Given the description of an element on the screen output the (x, y) to click on. 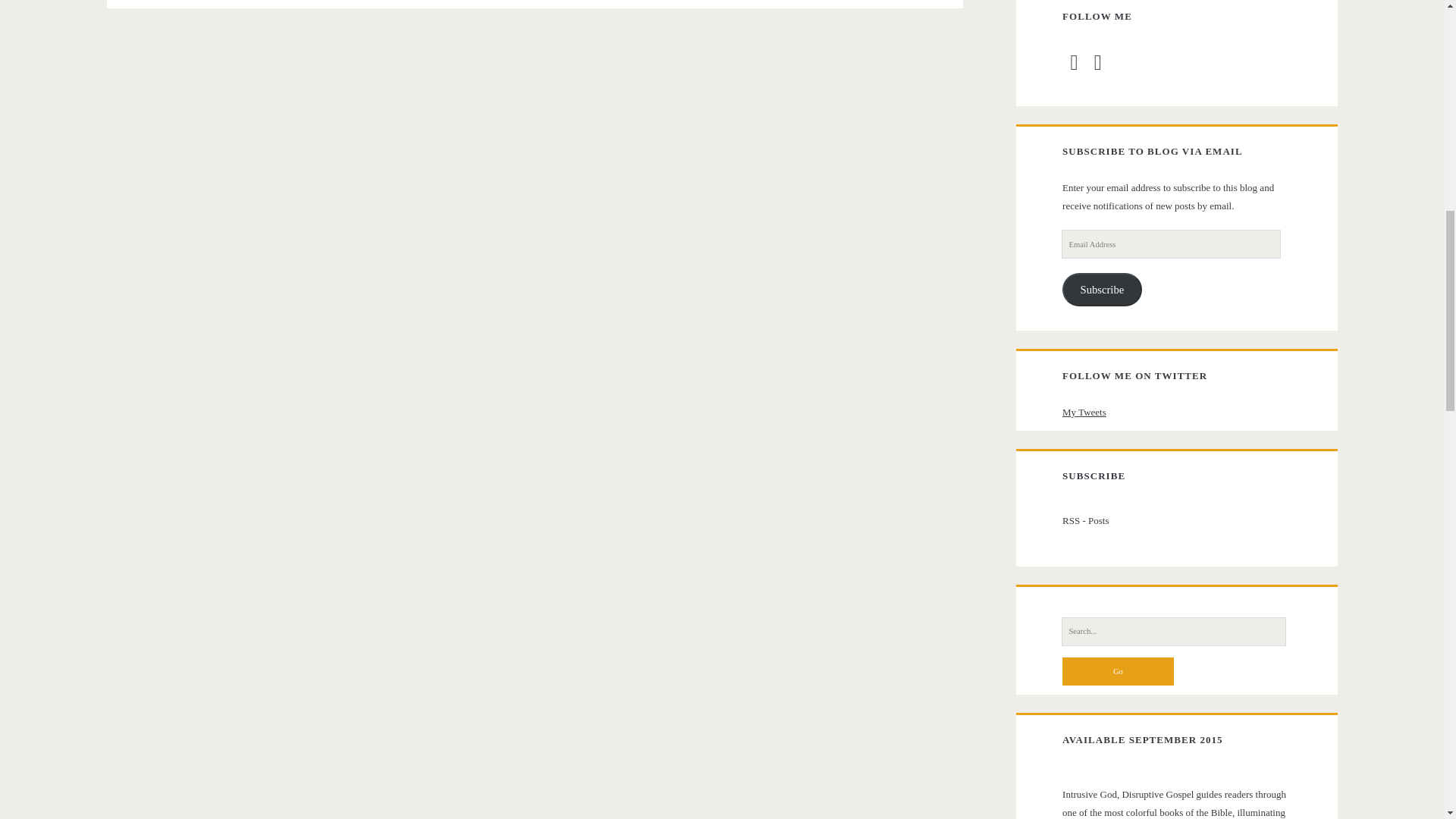
Go (1117, 670)
Go (1117, 670)
My Tweets (1084, 411)
Go (1117, 670)
RSS - Posts (1174, 520)
Subscribe (1101, 289)
